Given the description of an element on the screen output the (x, y) to click on. 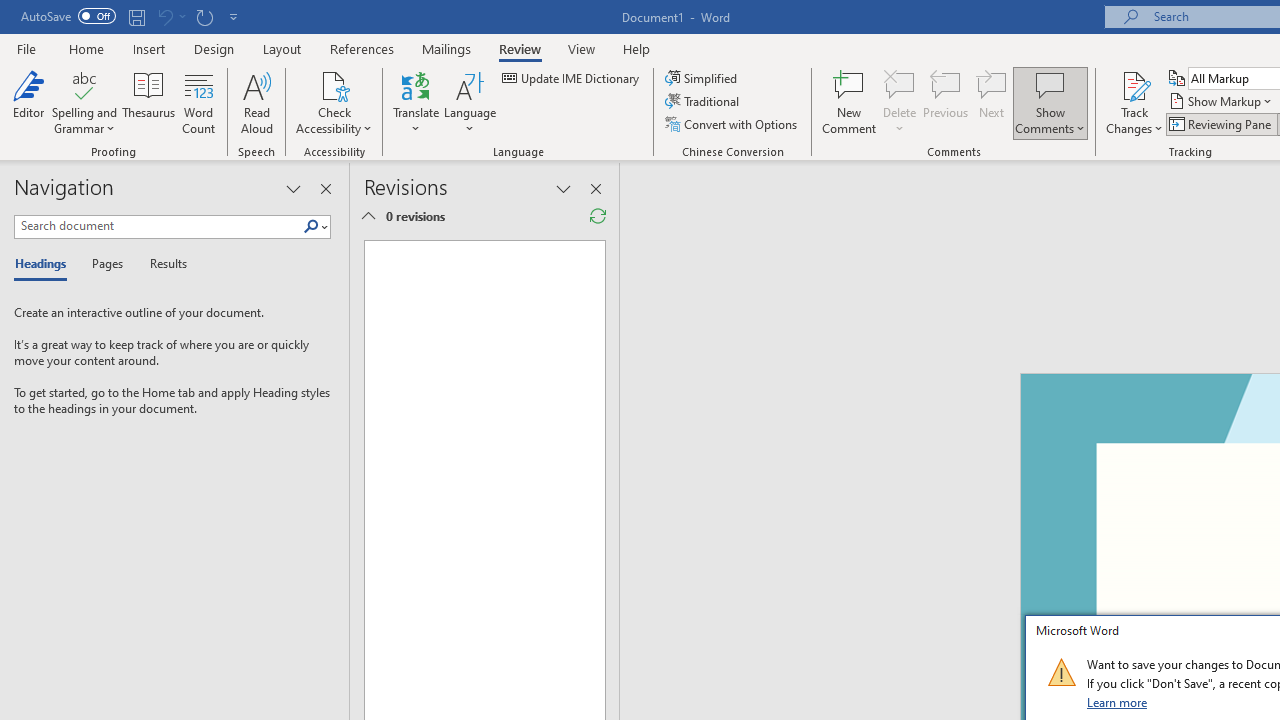
Show Detailed Summary (368, 215)
Show Markup (1222, 101)
New Comment (849, 102)
Delete (900, 84)
Home (86, 48)
Results (161, 264)
Help (637, 48)
Update IME Dictionary... (572, 78)
Refresh Reviewing Pane (597, 215)
Convert with Options... (732, 124)
Headings (45, 264)
Design (214, 48)
More Options (1134, 121)
